Given the description of an element on the screen output the (x, y) to click on. 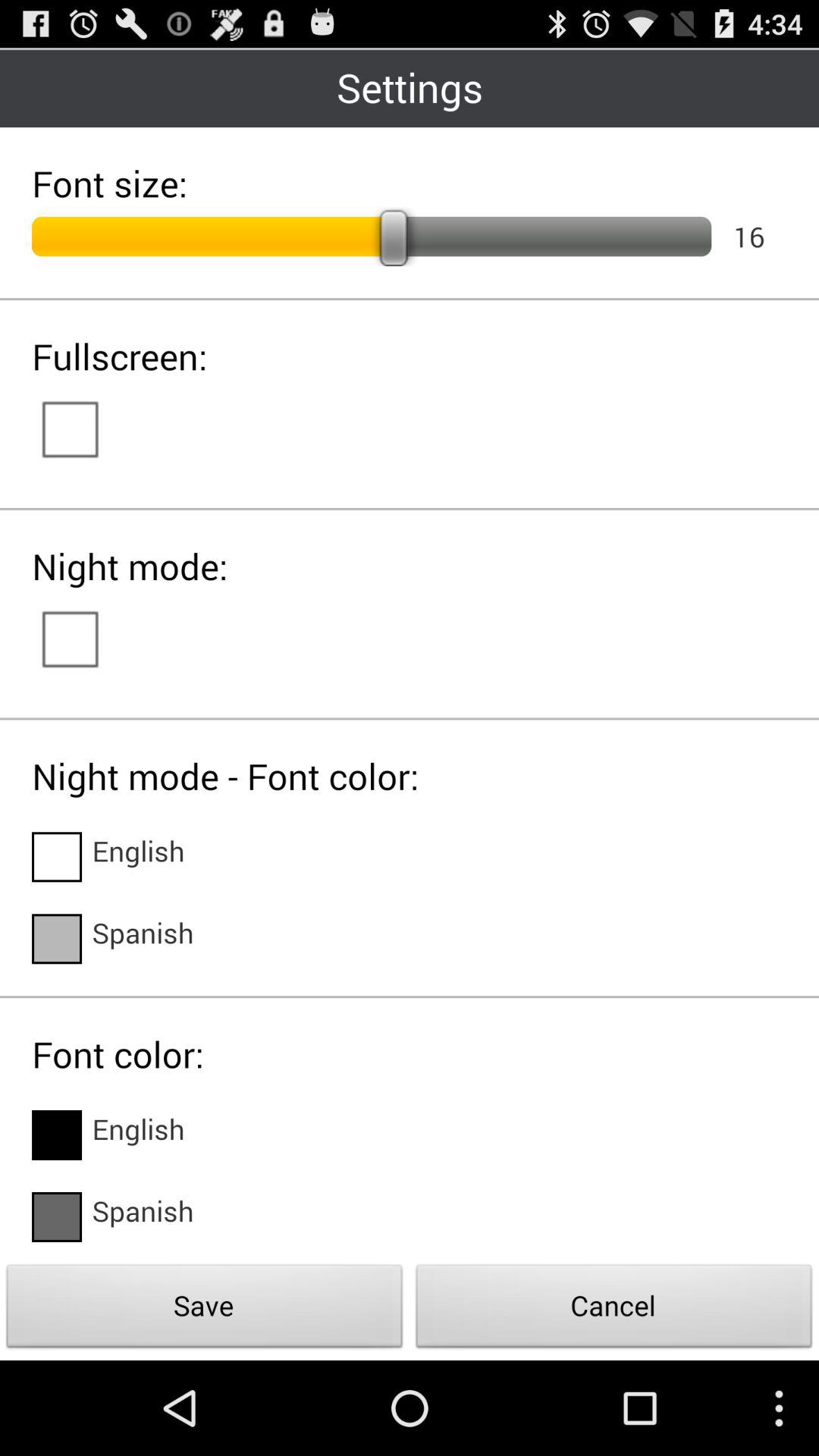
turn off the save icon (204, 1310)
